Given the description of an element on the screen output the (x, y) to click on. 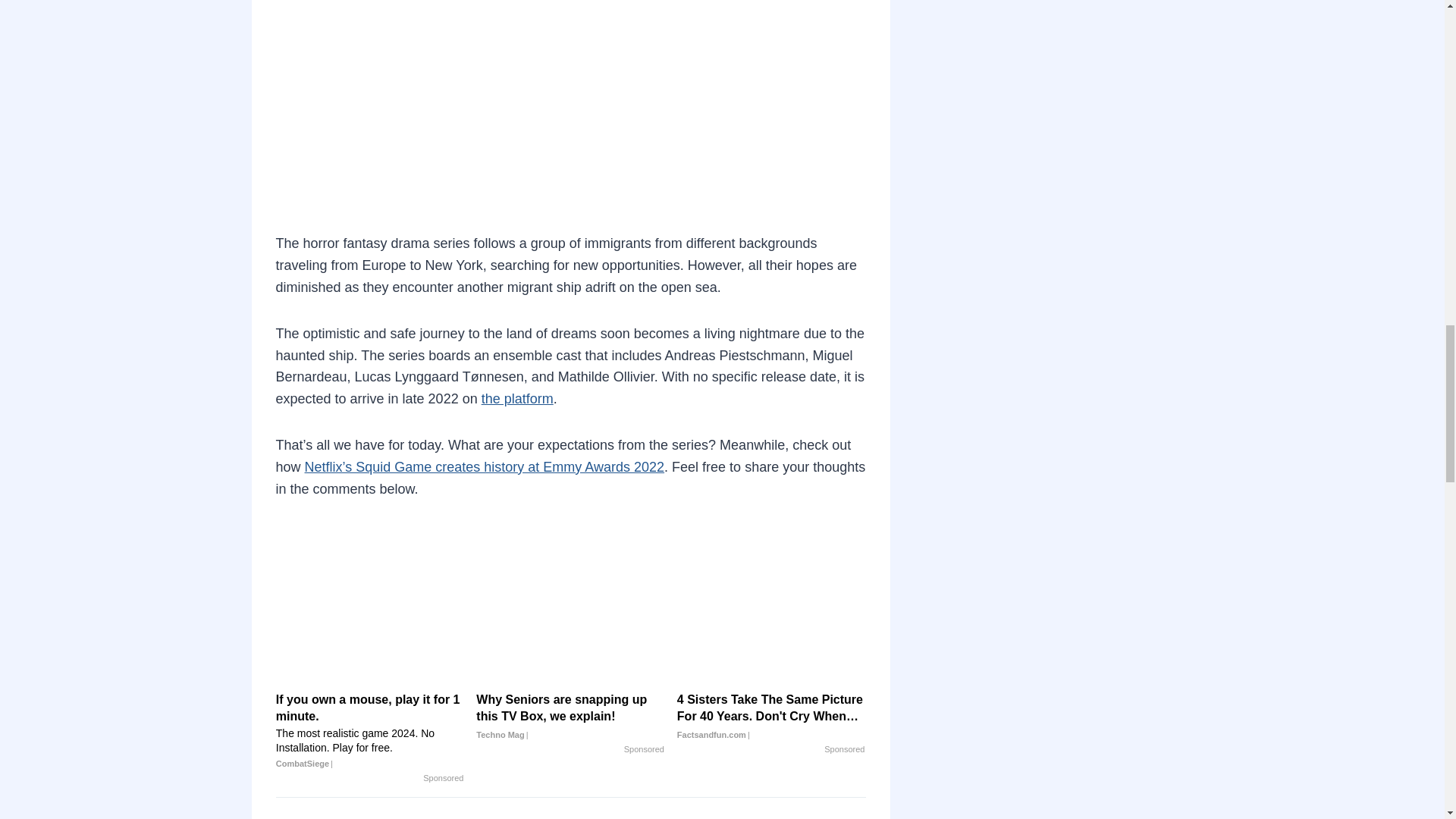
If you own a mouse, play it for 1 minute. (370, 731)
If you own a mouse, play it for 1 minute. (370, 634)
Sponsored (443, 778)
Sponsored (844, 749)
the platform (517, 398)
Sponsored (643, 749)
Why Seniors are snapping up this TV Box, we explain! (570, 634)
